Given the description of an element on the screen output the (x, y) to click on. 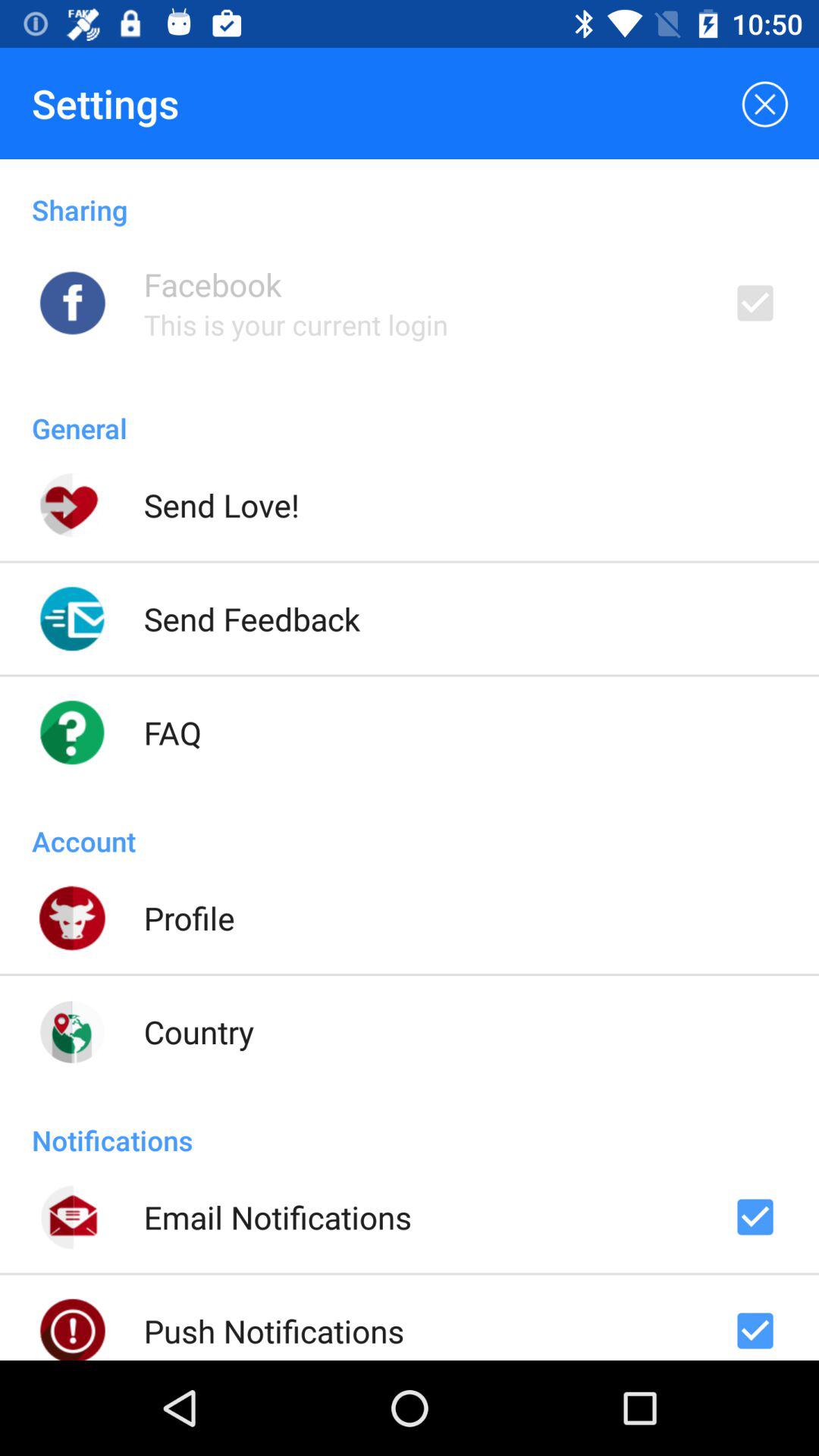
launch send love! icon (221, 504)
